Given the description of an element on the screen output the (x, y) to click on. 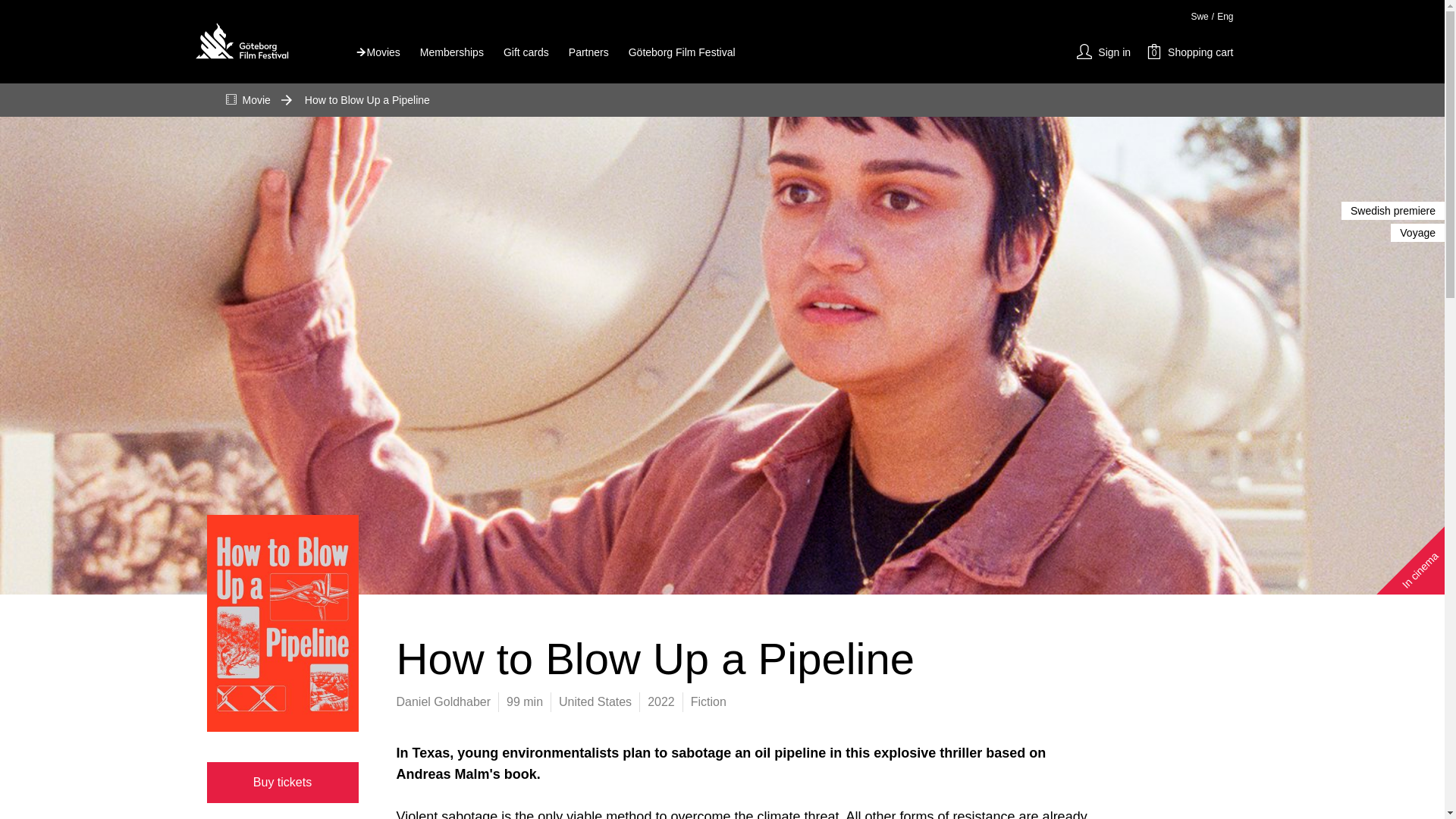
Eng (1225, 16)
Memberships (441, 51)
Gift cards (515, 51)
Movie (247, 99)
Movies (373, 51)
Buy tickets (1190, 51)
Sign in (282, 782)
Partners (1104, 51)
Swe (578, 51)
